Given the description of an element on the screen output the (x, y) to click on. 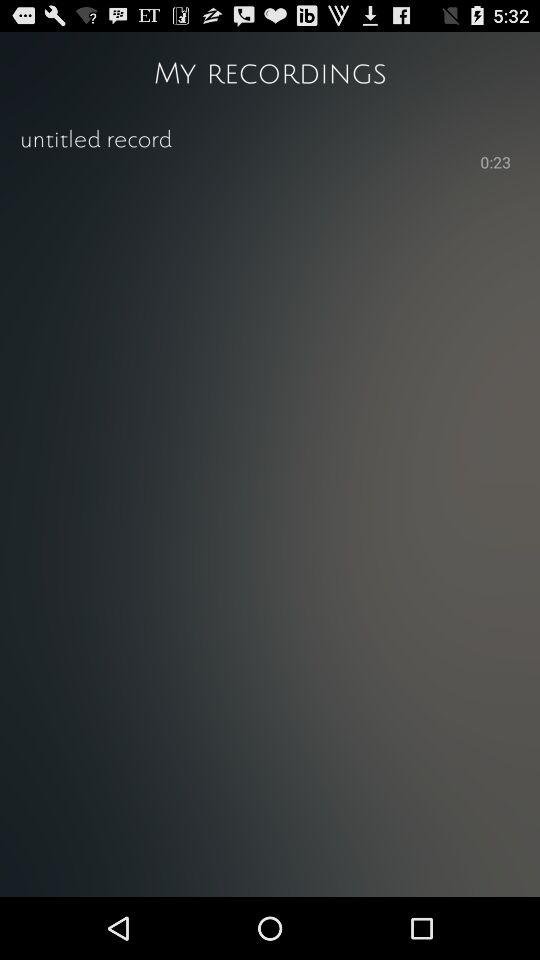
click the untitled record item (270, 137)
